Given the description of an element on the screen output the (x, y) to click on. 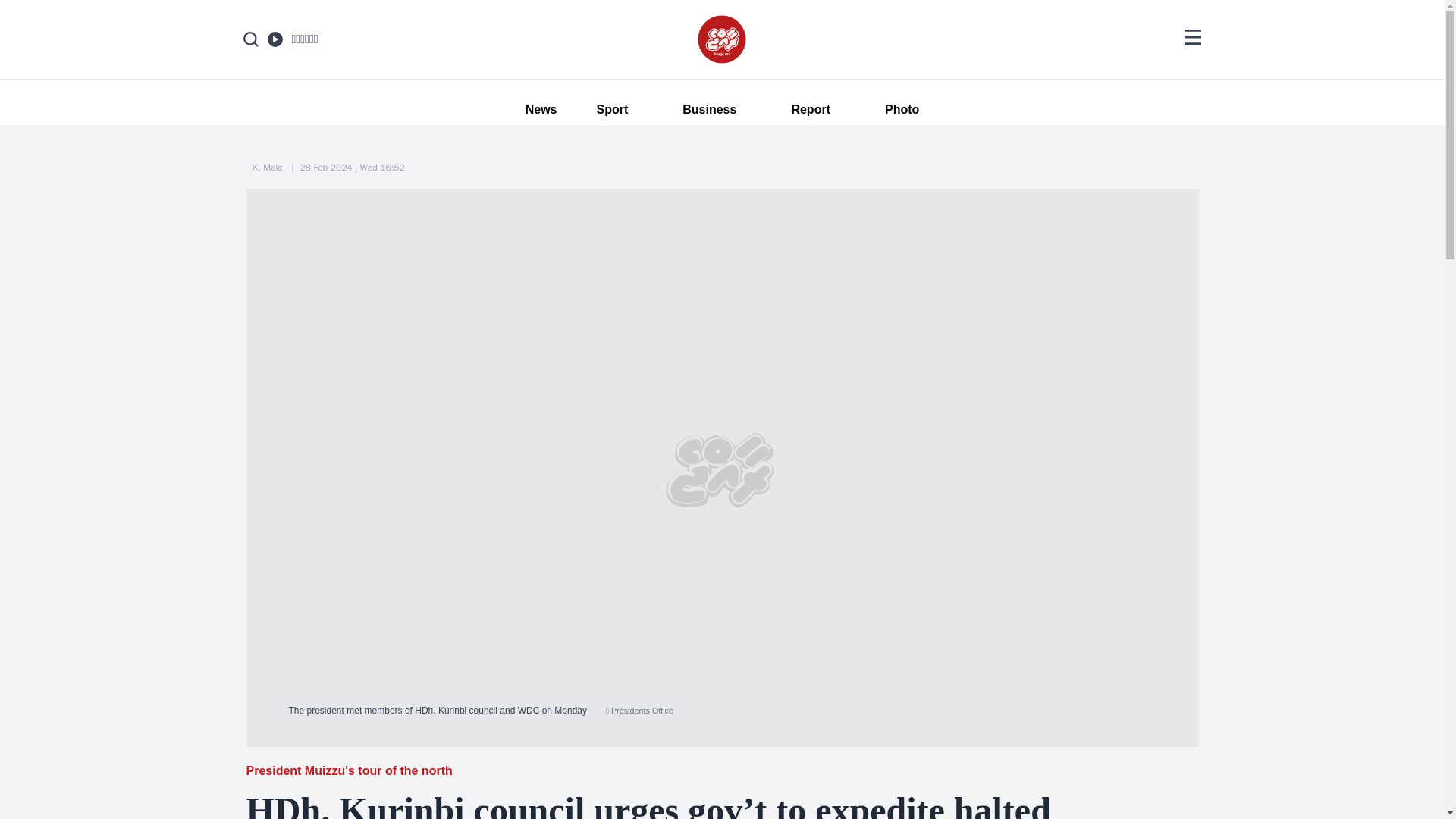
Sport (611, 109)
Report (810, 109)
Photo (901, 109)
News (534, 109)
Business (708, 109)
